Given the description of an element on the screen output the (x, y) to click on. 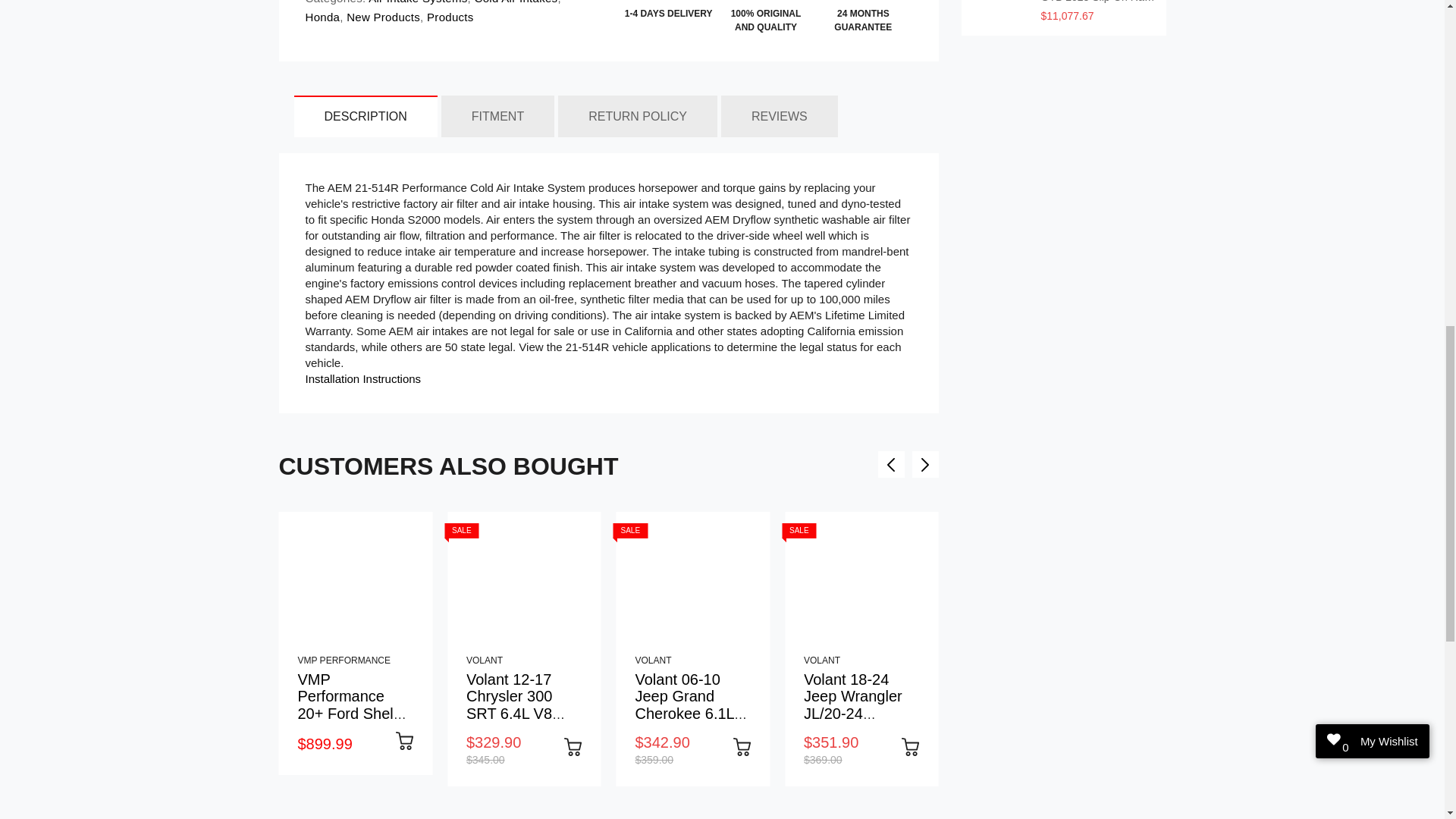
Cold Air Intakes (513, 2)
New Products (381, 16)
Air Intake Systems (416, 2)
Installation Instructions (362, 378)
Products (448, 16)
Honda (321, 16)
